Given the description of an element on the screen output the (x, y) to click on. 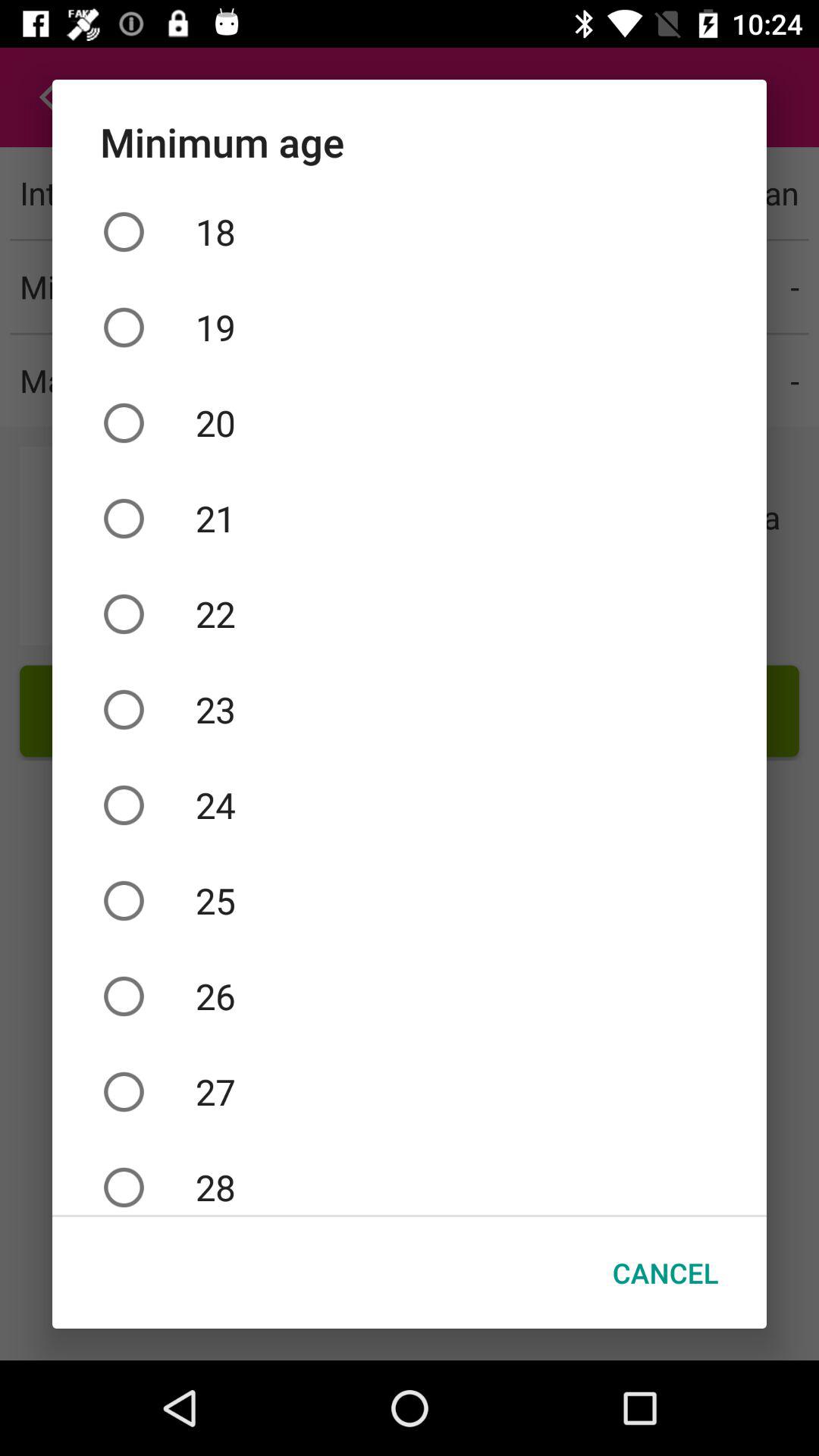
turn off cancel button (665, 1272)
